Given the description of an element on the screen output the (x, y) to click on. 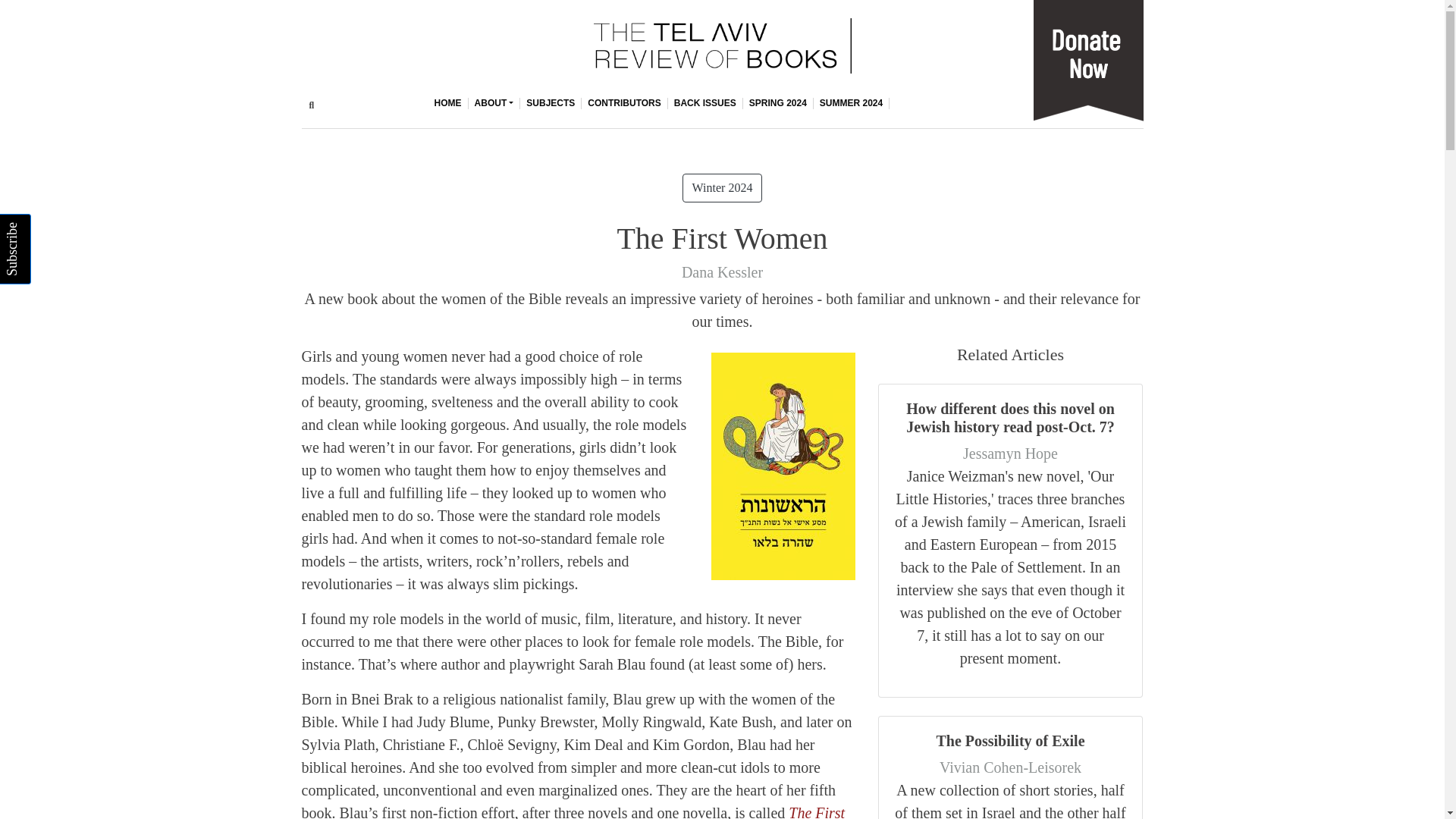
ABOUT (494, 103)
Vivian Cohen-Leisorek (1010, 767)
Dana Kessler (721, 271)
SPRING 2024 (777, 103)
HOME (448, 103)
BACK ISSUES (705, 103)
CONTRIBUTORS (623, 103)
Winter 2024 (722, 187)
SUMMER 2024 (851, 103)
SUBJECTS (549, 103)
The Possibility of Exile (1010, 740)
Jessamyn Hope (1010, 453)
